Given the description of an element on the screen output the (x, y) to click on. 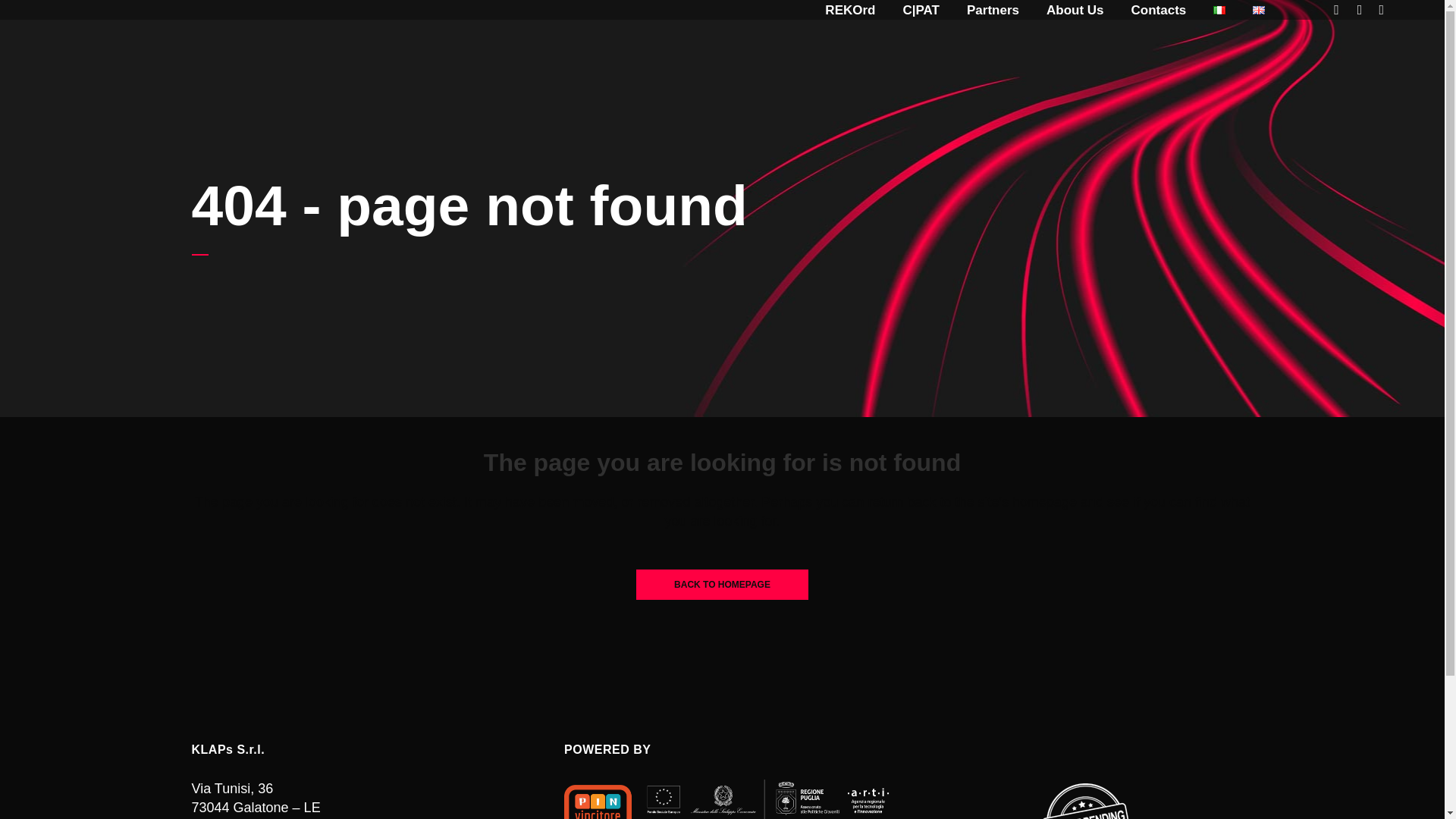
About Us (1075, 10)
REKOrd (849, 10)
BACK TO HOMEPAGE (722, 584)
Partners (992, 10)
Contacts (1158, 10)
